Given the description of an element on the screen output the (x, y) to click on. 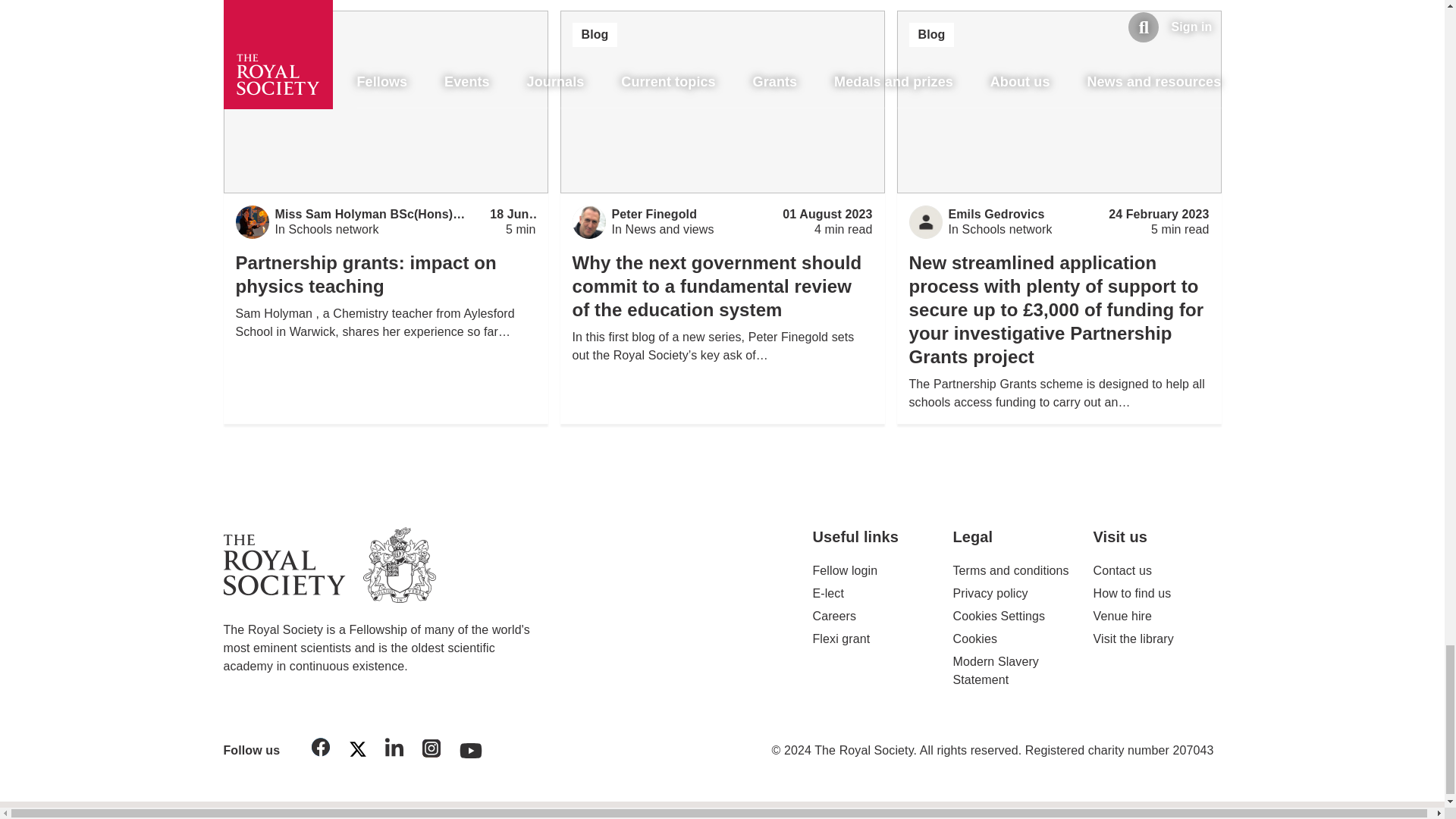
Facebook (320, 750)
Twitter (357, 752)
LinkedIn (393, 750)
YouTube (470, 746)
Instagram (431, 751)
